Given the description of an element on the screen output the (x, y) to click on. 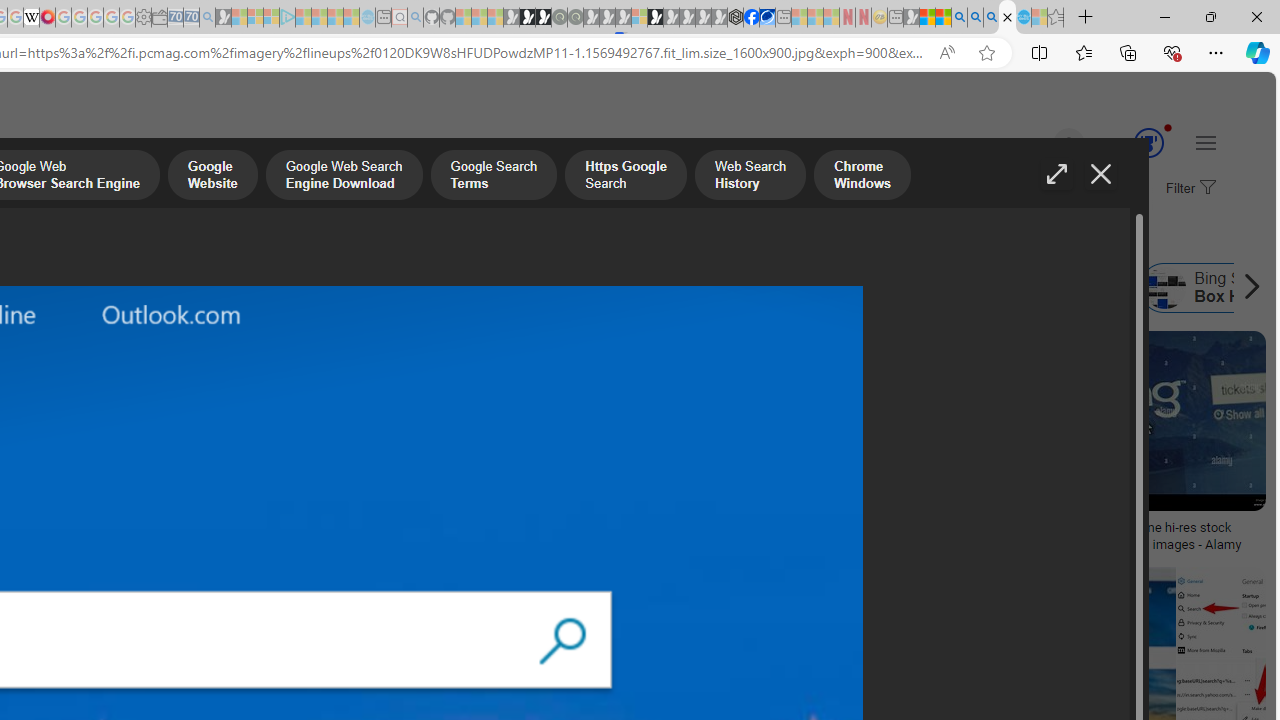
Class: item col (1051, 287)
Old Bing (347, 287)
Scroll right (1246, 287)
Bing T-Shirts (132, 400)
Bing Search Site - Search Images (1007, 17)
Play Zoo Boom in your browser | Games from Microsoft Start (527, 17)
